Given the description of an element on the screen output the (x, y) to click on. 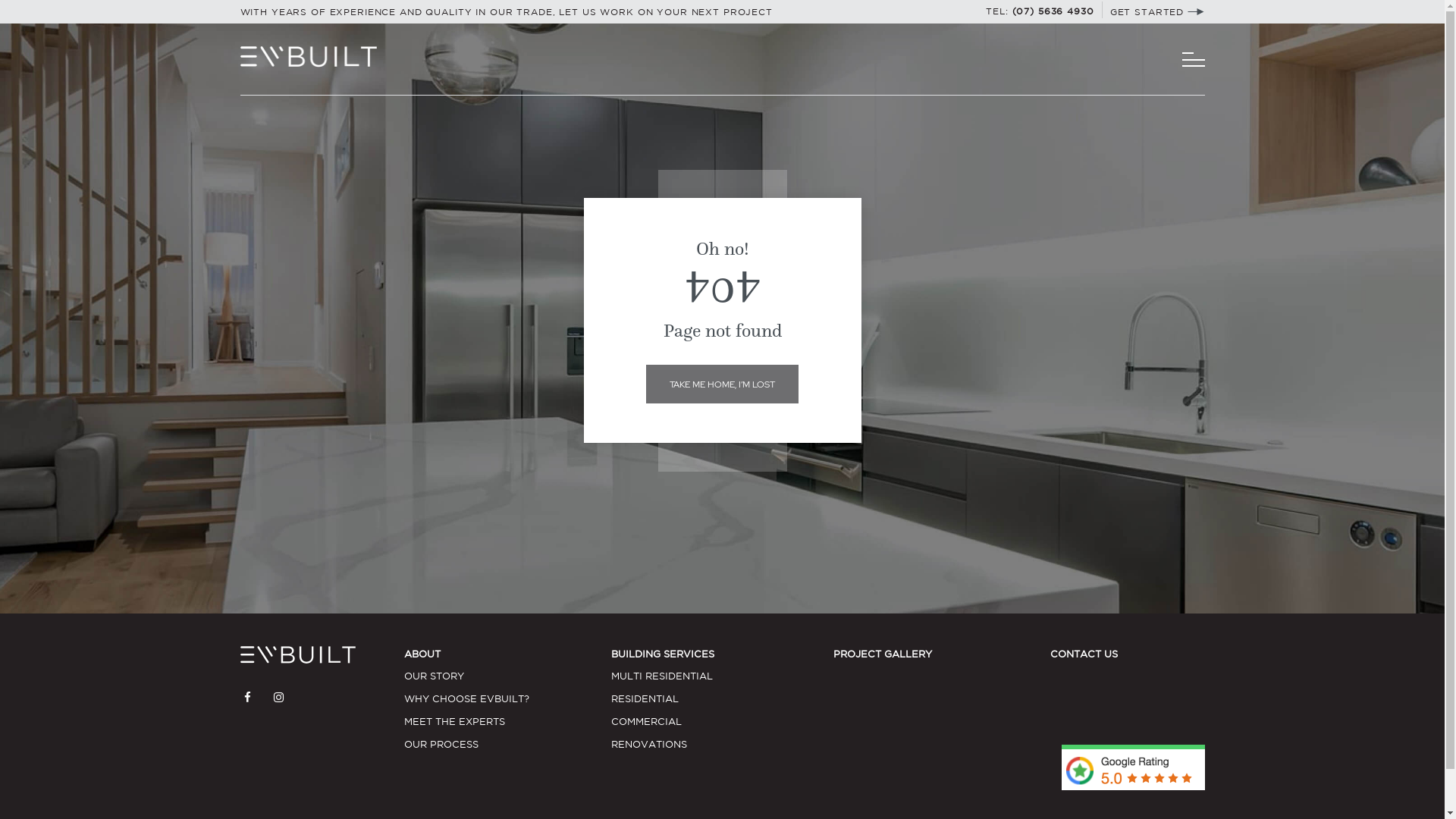
OUR STORY Element type: text (507, 676)
Search Element type: text (937, 41)
TEL: (07) 5636 4930 Element type: text (1039, 10)
MULTI RESIDENTIAL Element type: text (721, 676)
CONTACT US Element type: text (1083, 653)
RESIDENTIAL Element type: text (721, 698)
COMMERCIAL Element type: text (721, 721)
PROJECT GALLERY Element type: text (882, 653)
RENOVATIONS Element type: text (721, 744)
MEET THE EXPERTS Element type: text (507, 721)
ui-top-navigation-logo@2x Element type: hover (307, 56)
BUILDING SERVICES Element type: text (662, 653)
WHY CHOOSE EVBUILT? Element type: text (507, 698)
GET STARTED Element type: text (1157, 11)
OUR PROCESS Element type: text (507, 744)
